Given the description of an element on the screen output the (x, y) to click on. 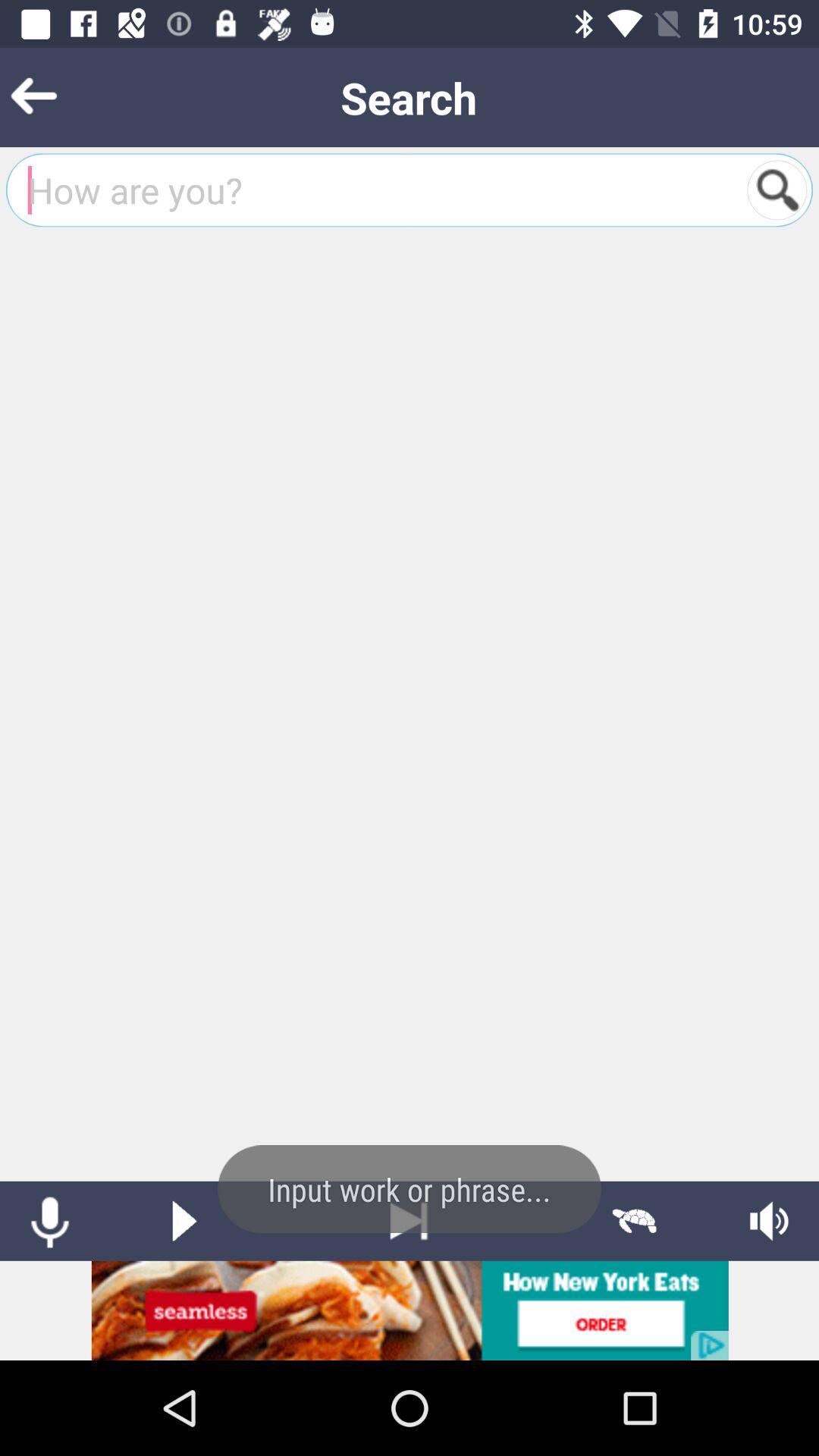
toggle audio (769, 1220)
